Given the description of an element on the screen output the (x, y) to click on. 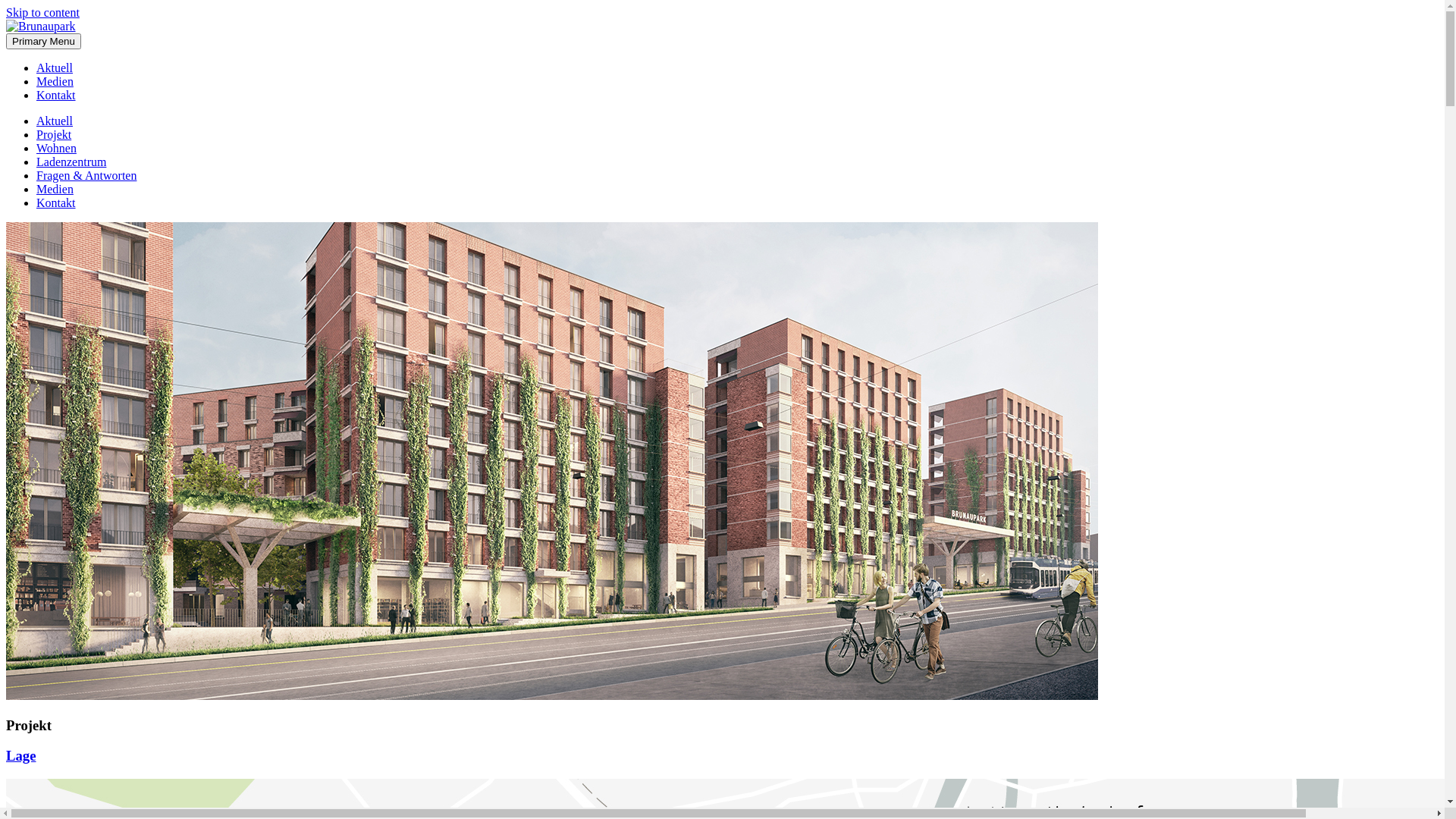
Wohnen Element type: text (56, 147)
Medien Element type: text (54, 188)
Aktuell Element type: text (54, 120)
Fragen & Antworten Element type: text (86, 175)
Kontakt Element type: text (55, 94)
Primary Menu Element type: text (43, 41)
Lage Element type: text (20, 755)
Medien Element type: text (54, 81)
Aktuell Element type: text (54, 67)
Skip to content Element type: text (42, 12)
Kontakt Element type: text (55, 202)
Ladenzentrum Element type: text (71, 161)
Projekt Element type: text (53, 134)
